Given the description of an element on the screen output the (x, y) to click on. 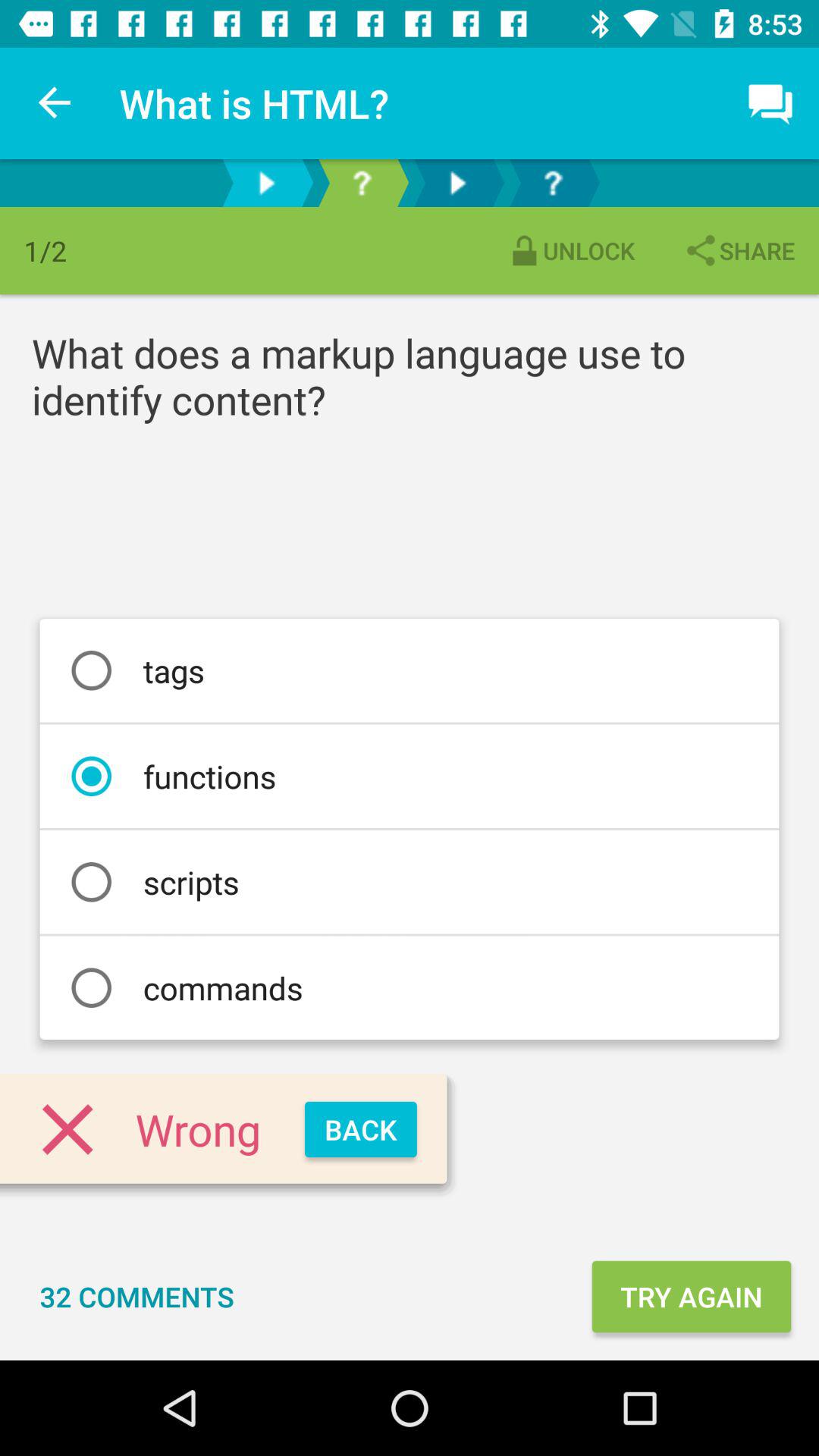
tap item above 1/2 icon (55, 103)
